Given the description of an element on the screen output the (x, y) to click on. 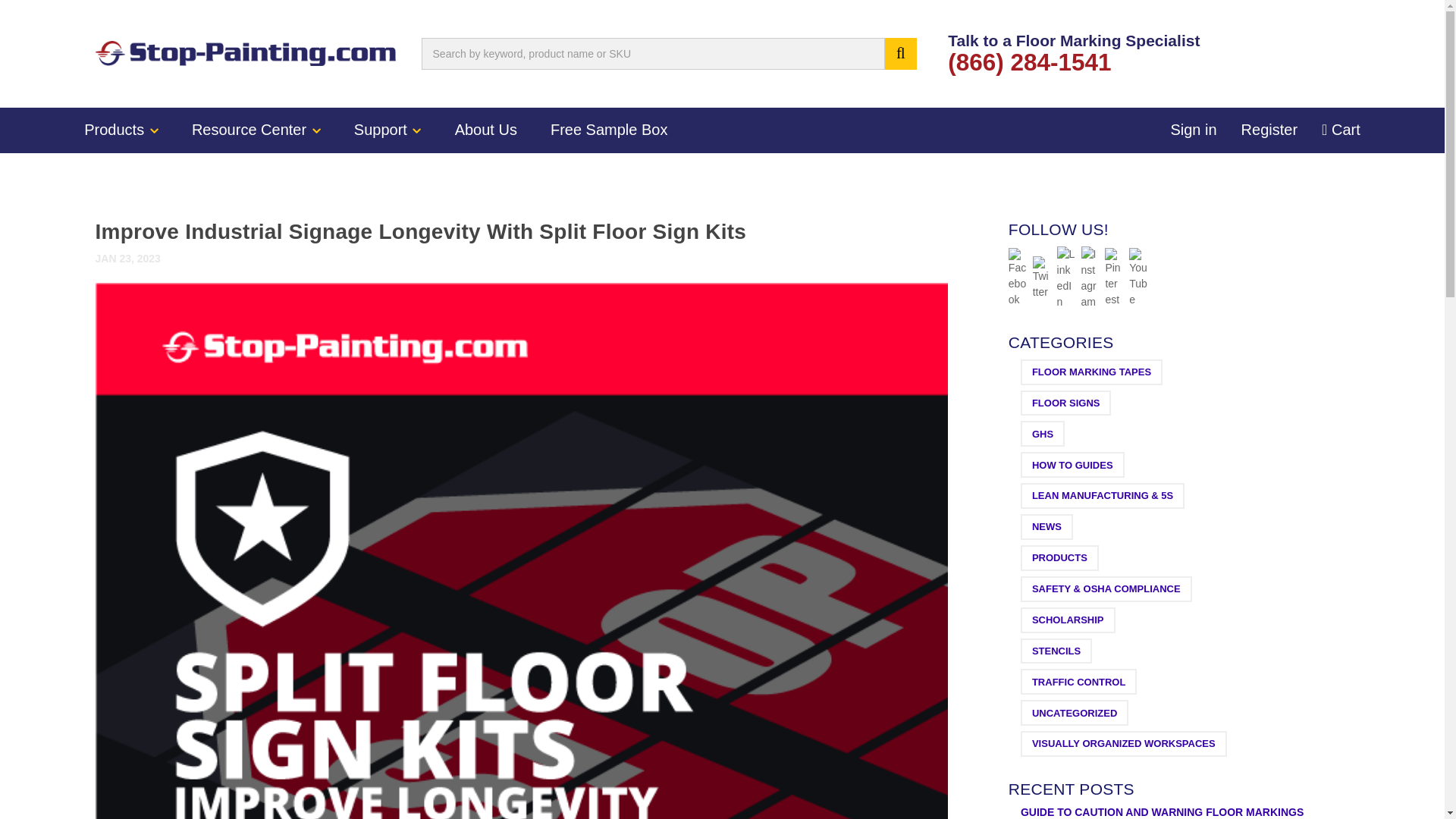
Products (120, 130)
InSite Solutions LLC (246, 53)
Search (901, 53)
